Given the description of an element on the screen output the (x, y) to click on. 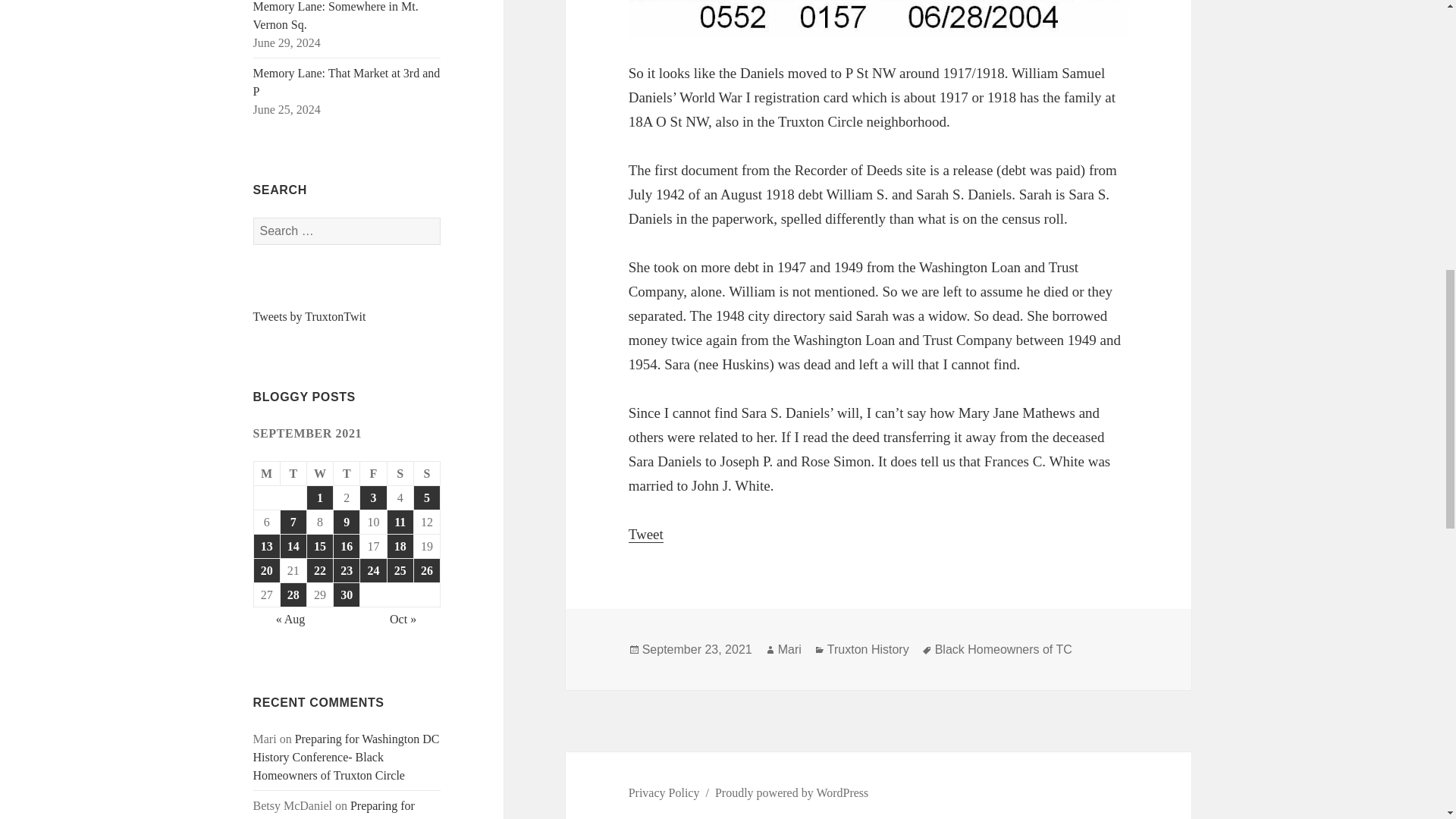
3 (372, 497)
24 (372, 570)
Tweets by TruxtonTwit (309, 316)
30 (346, 594)
Memory Lane: That Market at 3rd and P (347, 81)
1 (320, 497)
Memory Lane: Somewhere in Mt. Vernon Sq. (336, 15)
Tuesday (294, 473)
Monday (267, 473)
7 (293, 521)
Friday (373, 473)
22 (320, 570)
28 (293, 594)
